Given the description of an element on the screen output the (x, y) to click on. 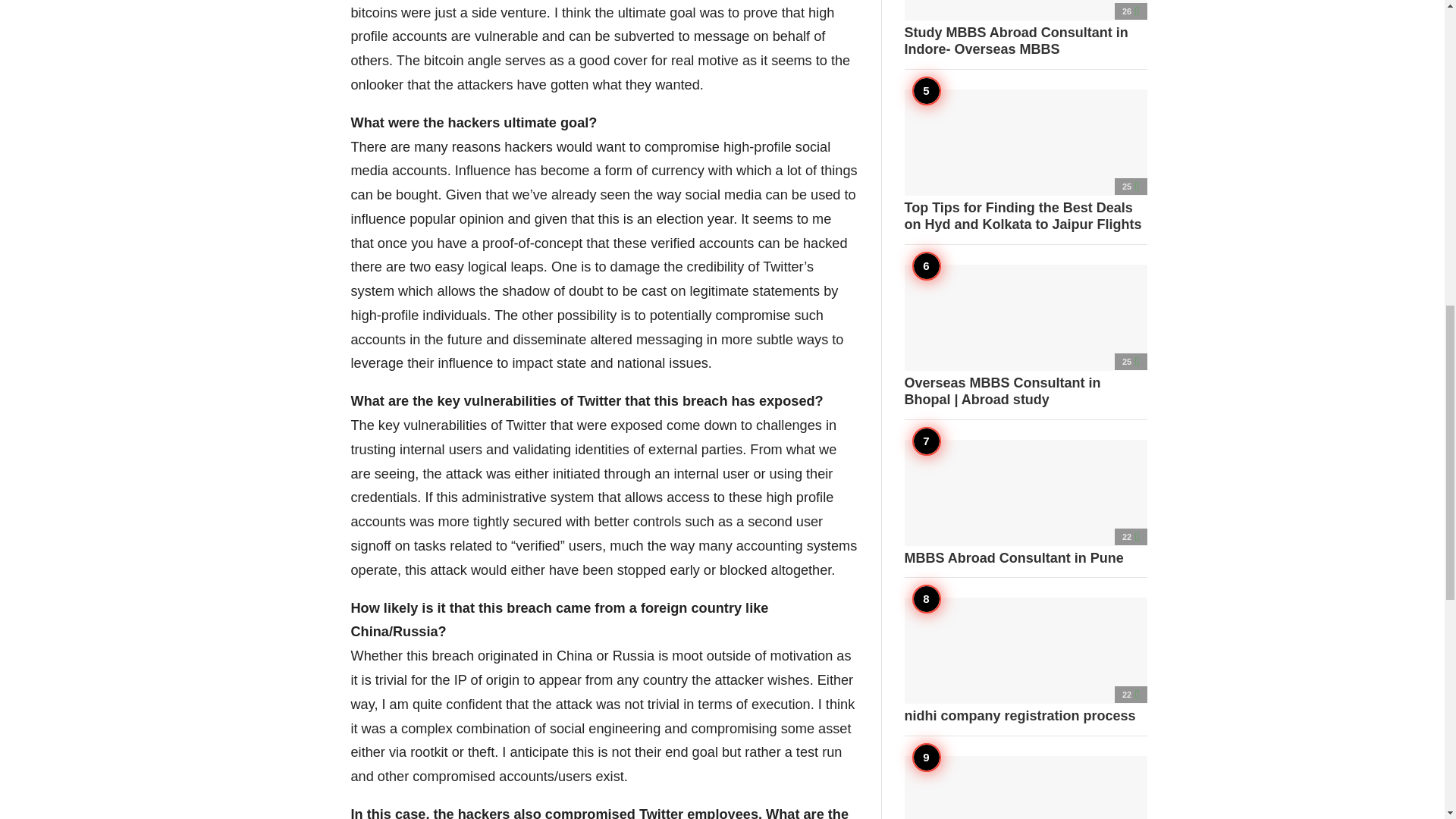
Memory and Time in HIROSHIMA MON AMOUR (1025, 787)
MBBS Abroad Consultant in Pune (1025, 503)
Study MBBS Abroad Consultant in Indore- Overseas MBBS (1025, 28)
nidhi company registration process (1025, 660)
